Given the description of an element on the screen output the (x, y) to click on. 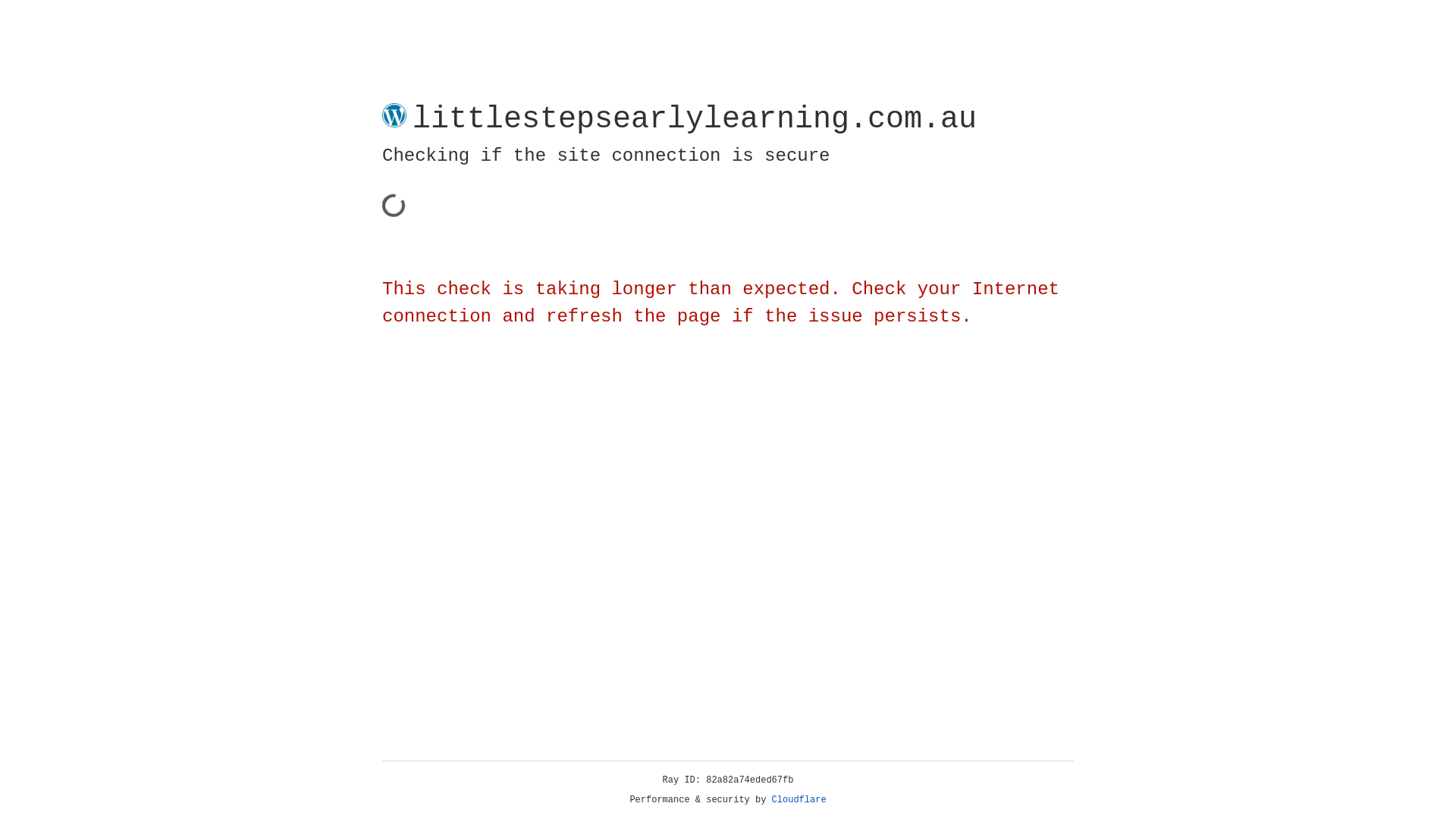
Cloudflare Element type: text (798, 799)
